Given the description of an element on the screen output the (x, y) to click on. 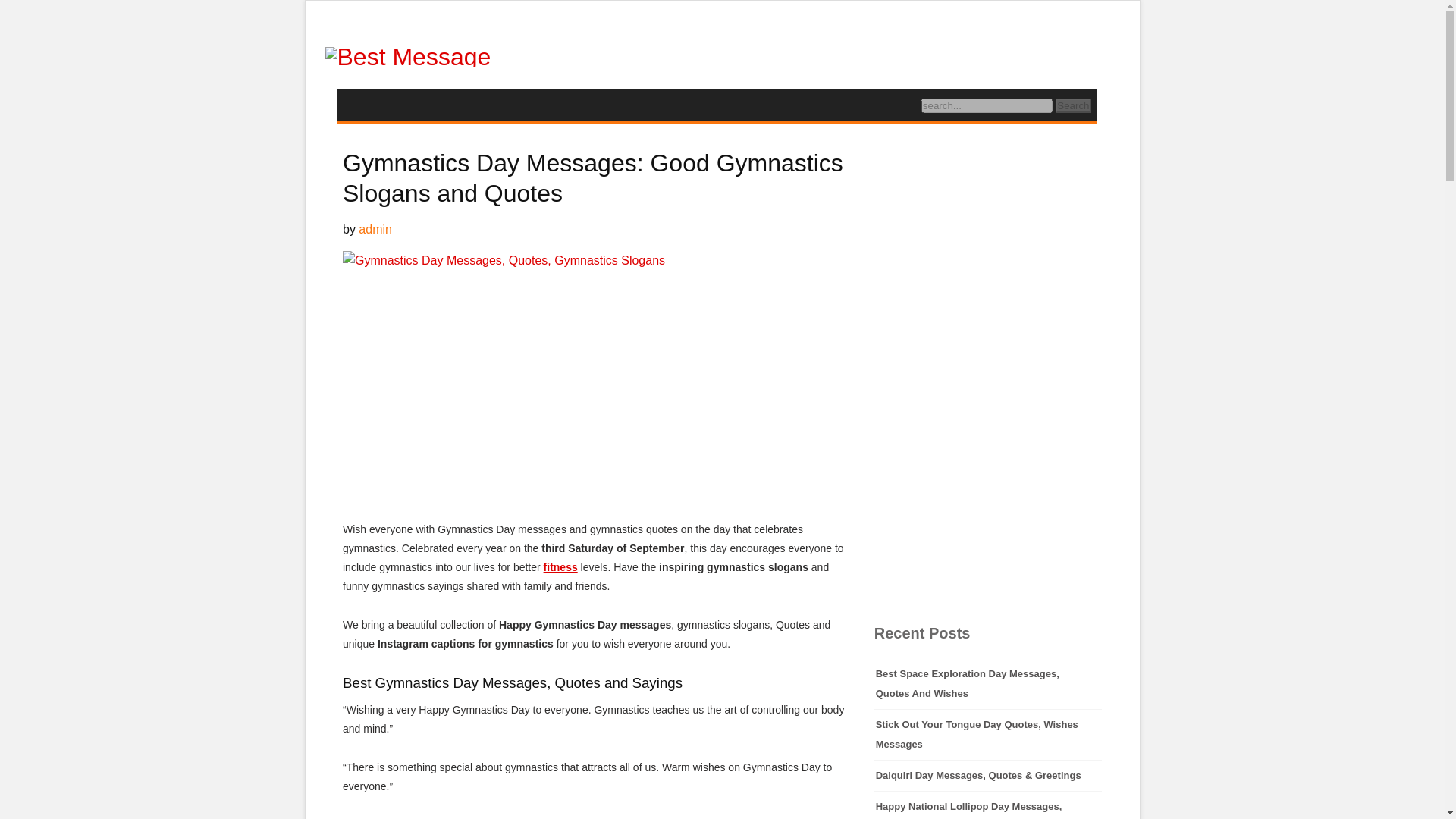
Search (1072, 105)
Stick Out Your Tongue Day Quotes, Wishes Messages (988, 735)
Search (1072, 105)
fitness (560, 567)
Best Space Exploration Day Messages, Quotes And Wishes (988, 684)
Happy National Lollipop Day Messages, Wishes 2024 (988, 805)
admin (374, 228)
Best Message (407, 56)
